Given the description of an element on the screen output the (x, y) to click on. 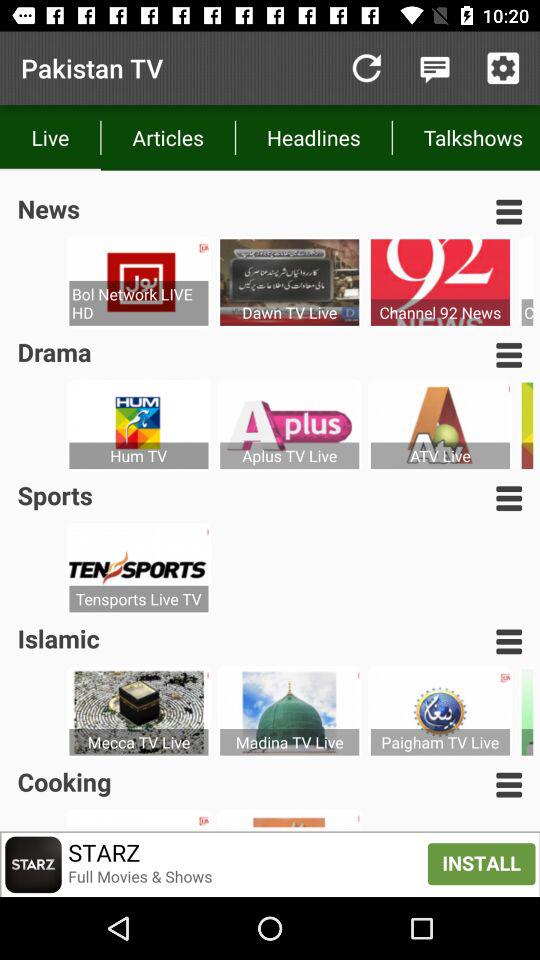
tap icon to the left of the talkshows item (313, 137)
